Given the description of an element on the screen output the (x, y) to click on. 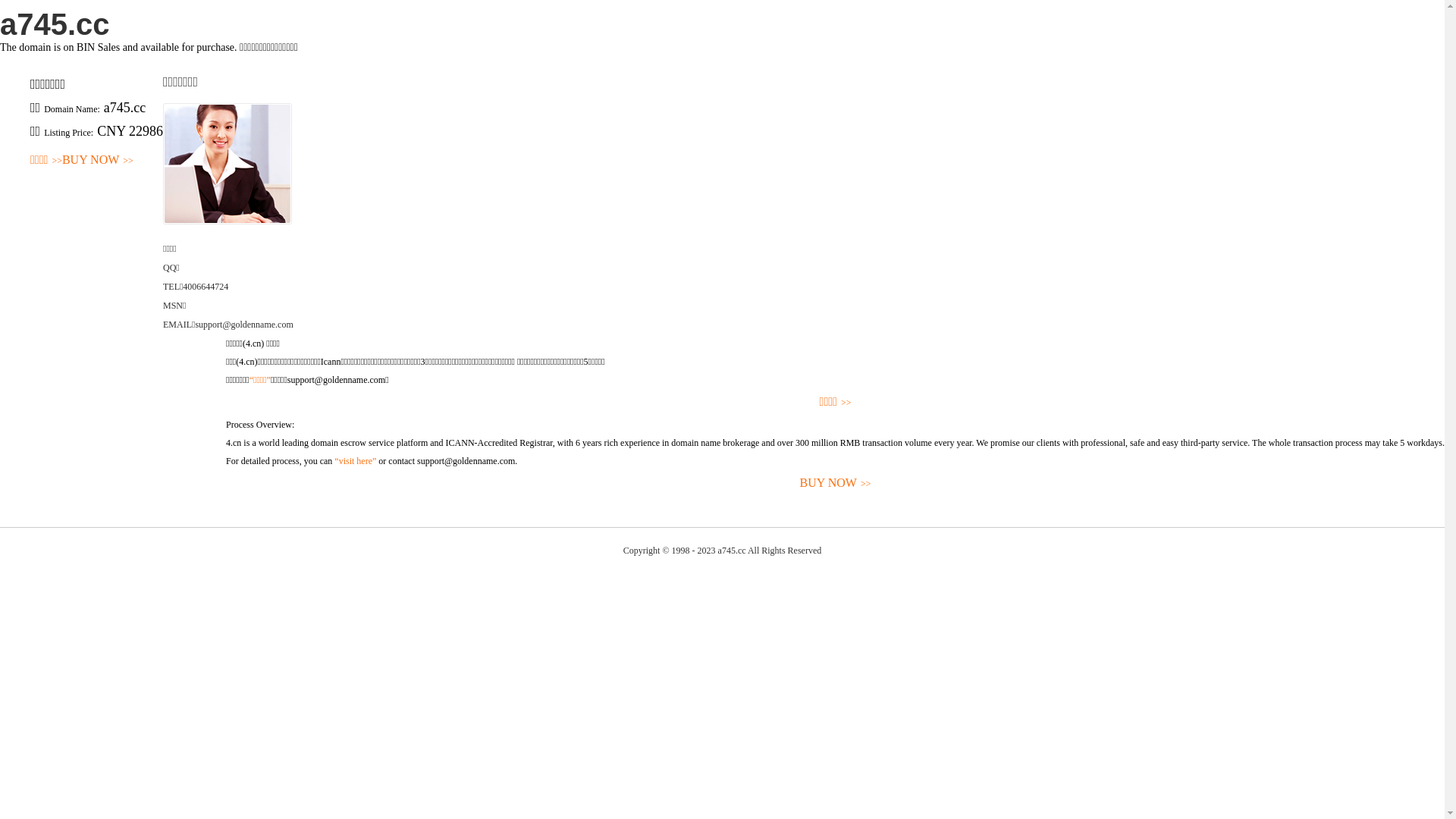
BUY NOW>> Element type: text (834, 483)
BUY NOW>> Element type: text (97, 160)
